Given the description of an element on the screen output the (x, y) to click on. 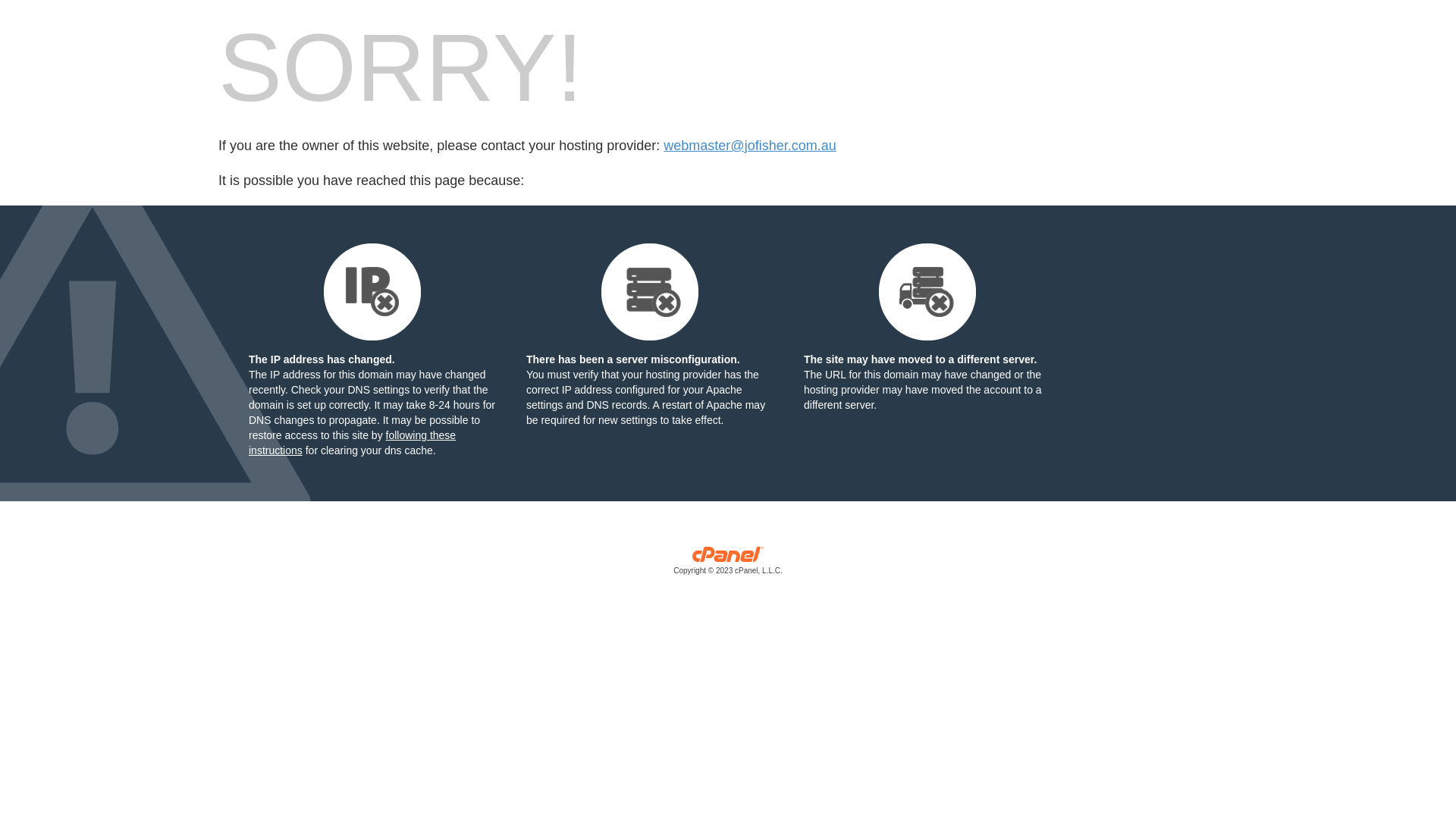
webmaster@jofisher.com.au Element type: text (749, 145)
following these instructions Element type: text (351, 442)
